Given the description of an element on the screen output the (x, y) to click on. 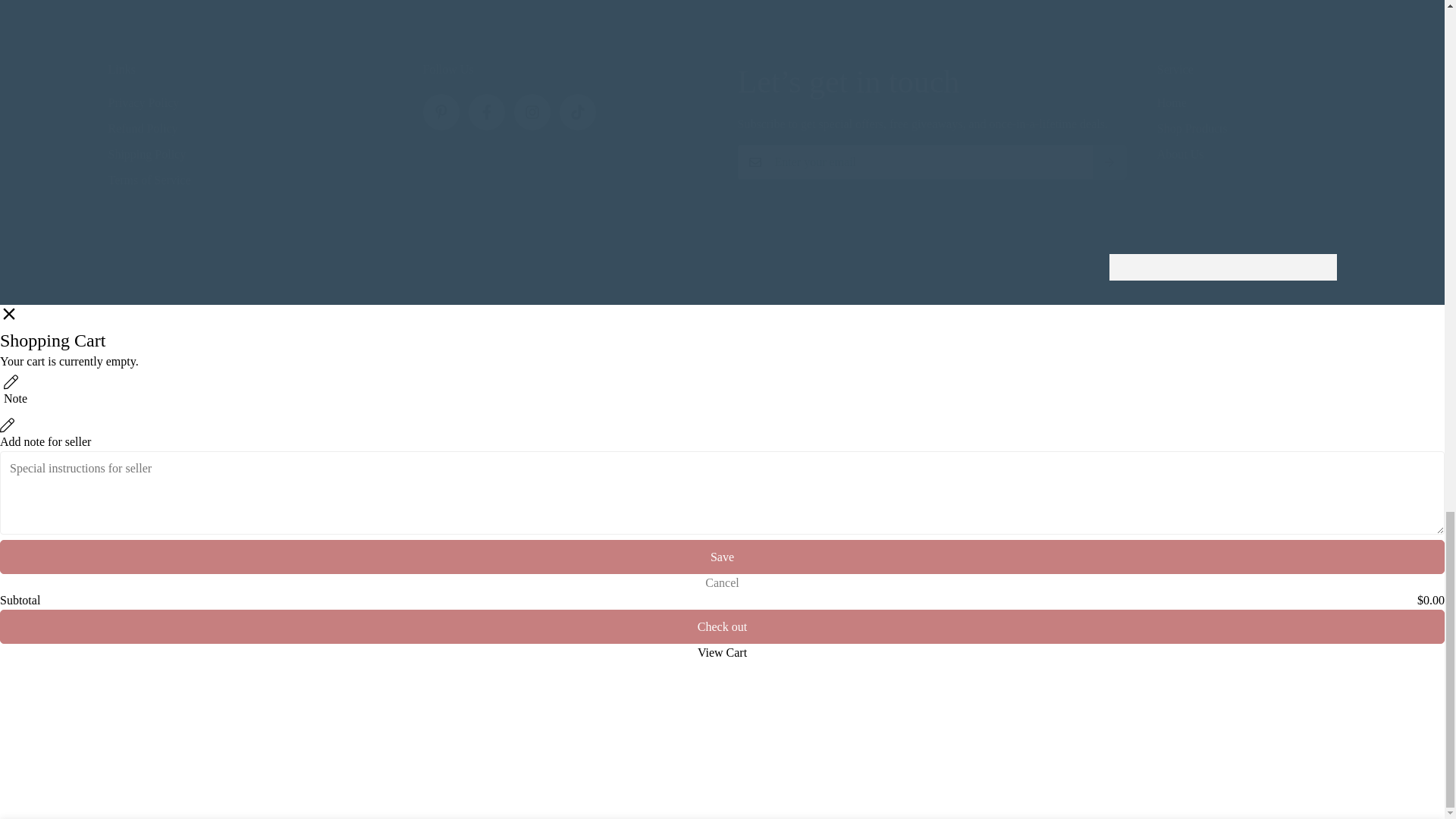
Follow Us (564, 97)
